Given the description of an element on the screen output the (x, y) to click on. 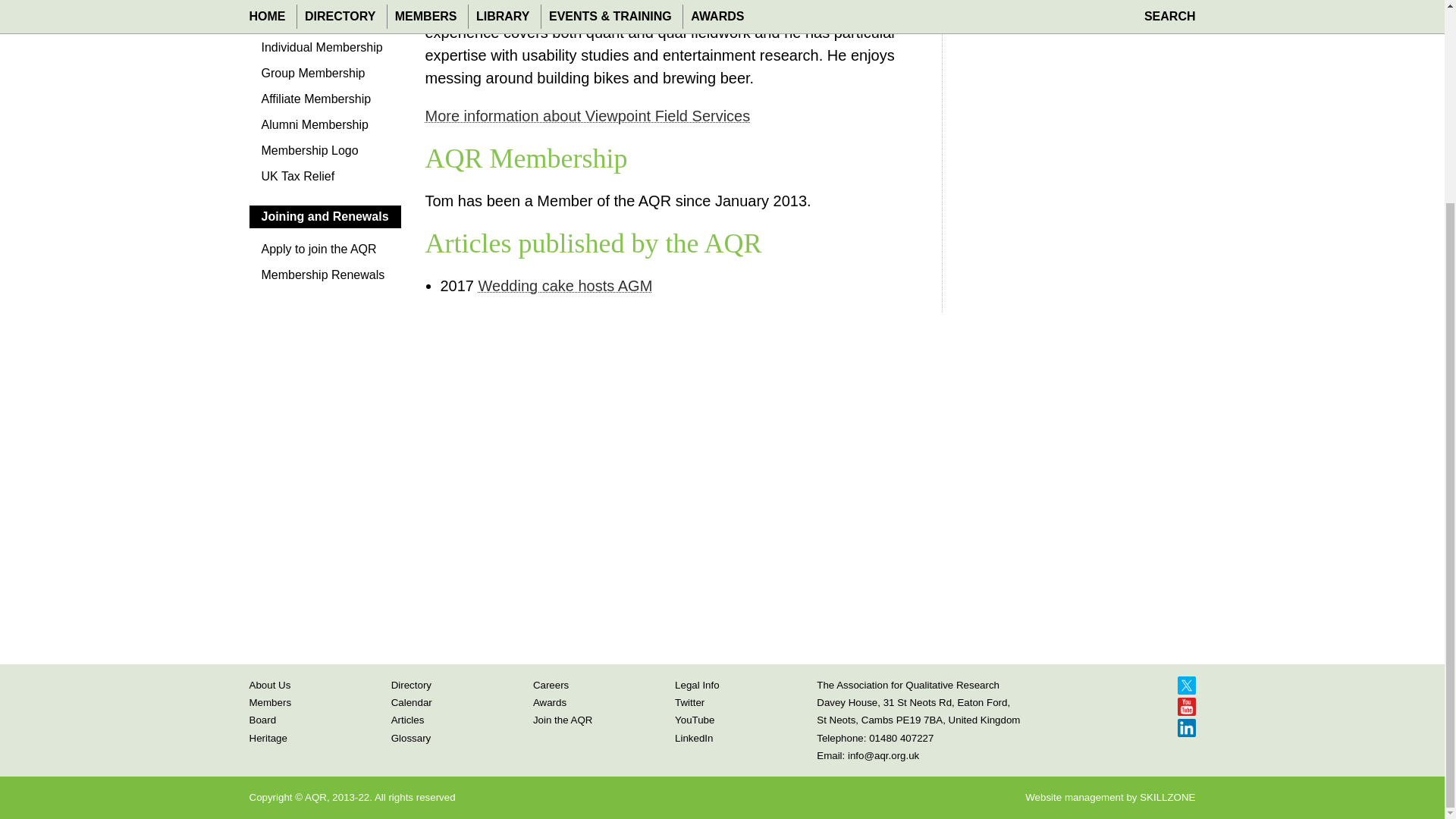
More information about Viewpoint Field Services (587, 115)
Join the AQR (562, 719)
Alumni Membership (324, 128)
Membership Benefits (324, 25)
UK Tax Relief (324, 180)
Membership Renewals (324, 278)
Awards (549, 702)
Affiliate Membership (324, 103)
Calendar (411, 702)
Apply to join the AQR (324, 253)
Board (262, 719)
Careers (550, 685)
Heritage (267, 737)
Articles (408, 719)
Members (269, 702)
